Given the description of an element on the screen output the (x, y) to click on. 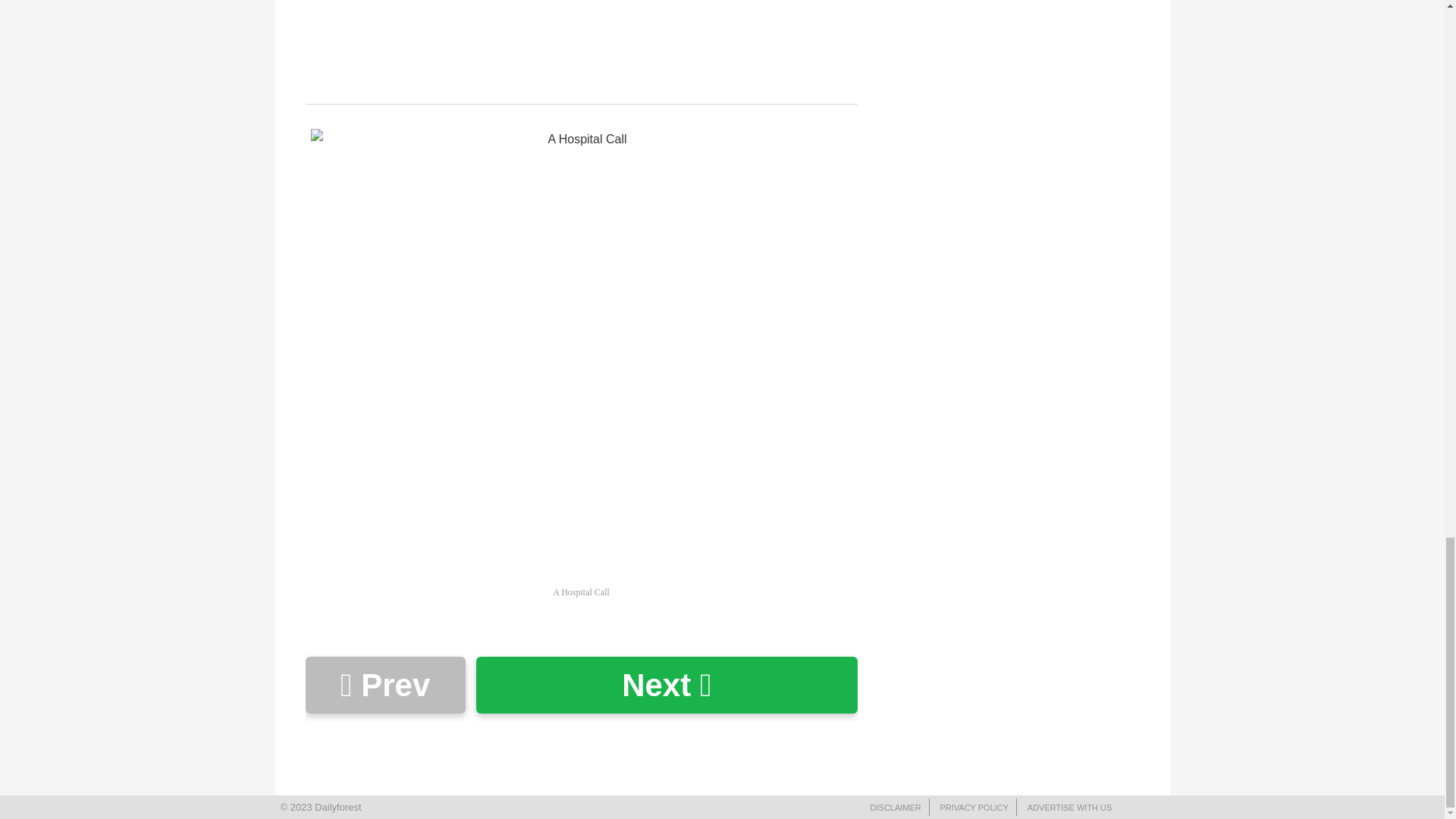
Prev (384, 684)
PRIVACY POLICY (974, 807)
ADVERTISE WITH US (1069, 807)
Next (666, 684)
DISCLAIMER (895, 807)
